Given the description of an element on the screen output the (x, y) to click on. 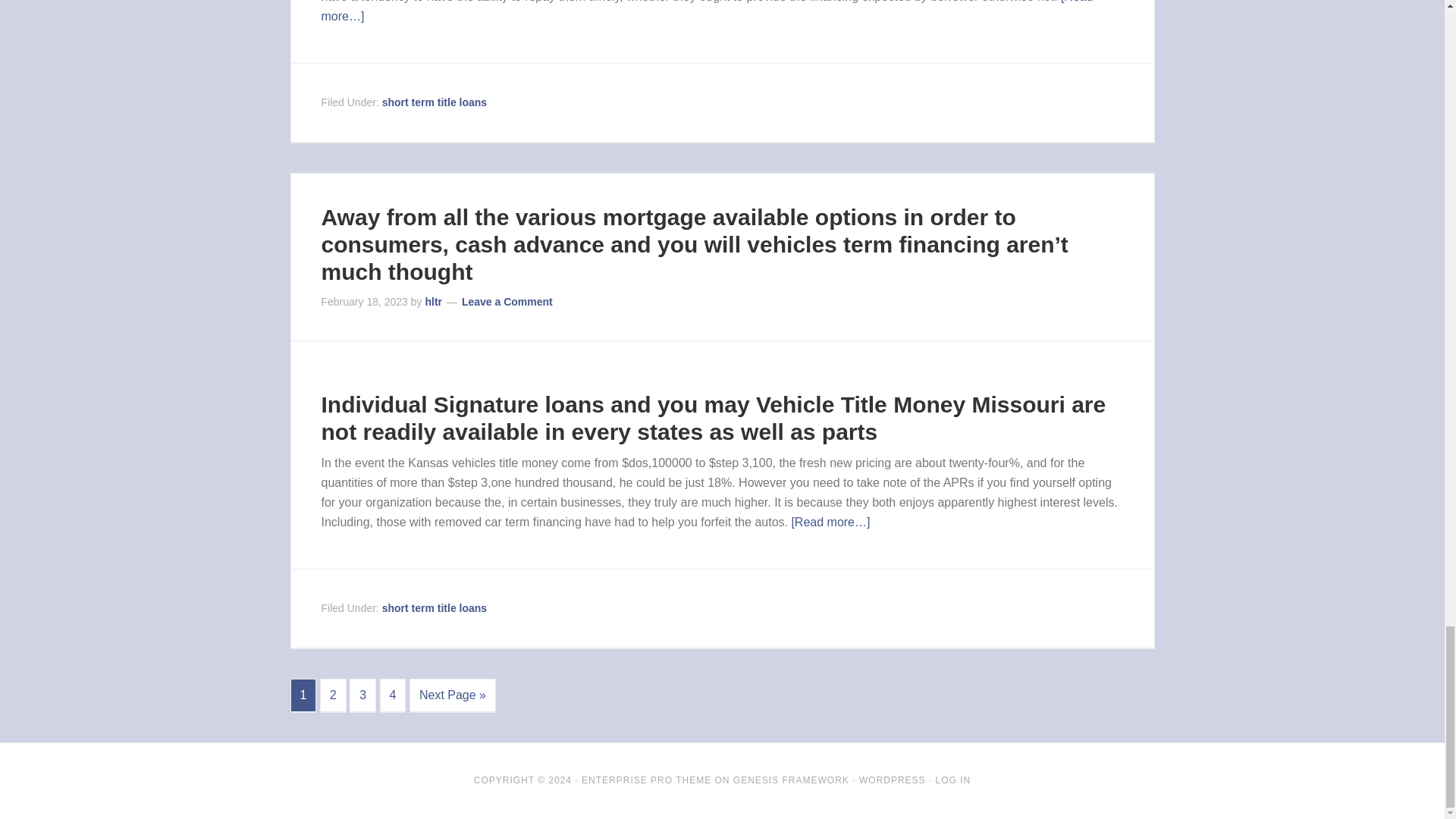
short term title loans (433, 607)
short term title loans (433, 102)
ENTERPRISE PRO THEME (645, 779)
Leave a Comment (507, 301)
hltr (433, 301)
